Given the description of an element on the screen output the (x, y) to click on. 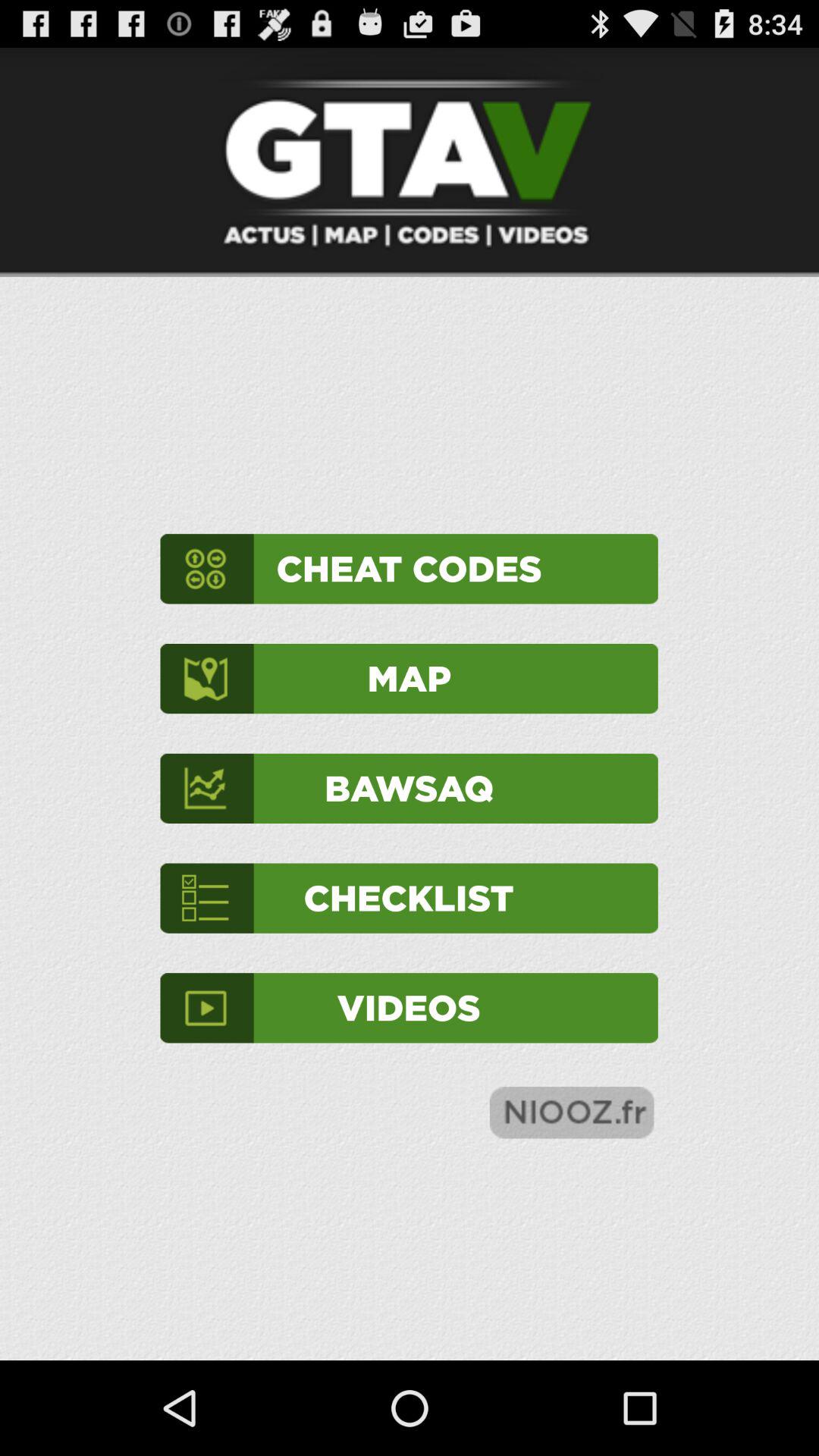
turn on the map item (409, 678)
